Given the description of an element on the screen output the (x, y) to click on. 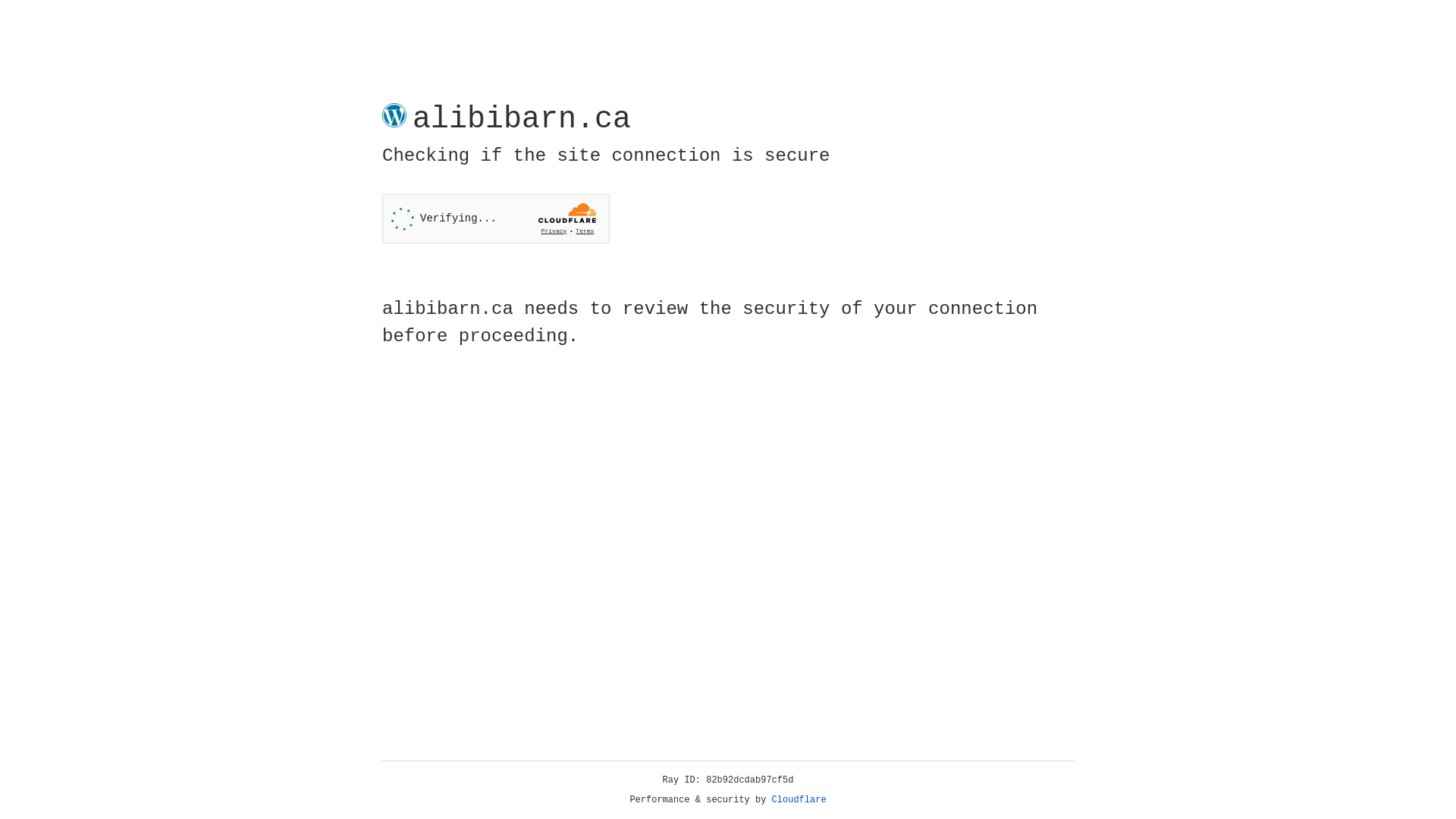
Widget containing a Cloudflare security challenge Element type: hover (495, 218)
Cloudflare Element type: text (798, 799)
